Given the description of an element on the screen output the (x, y) to click on. 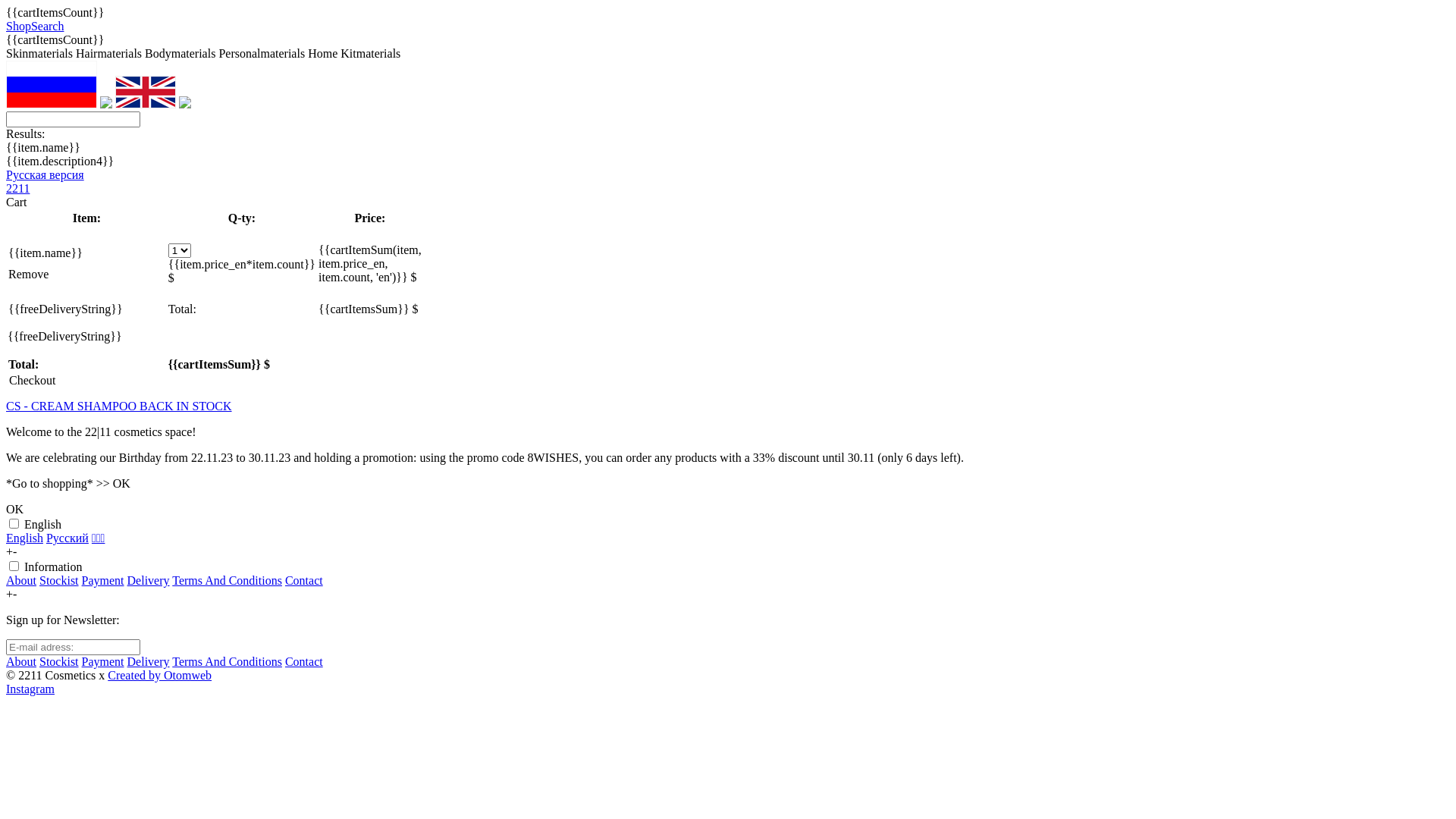
Shop Element type: text (18, 25)
Created by Otomweb Element type: text (159, 674)
Personalmaterials Element type: text (261, 53)
Terms And Conditions Element type: text (227, 580)
+- Element type: text (11, 551)
Stockist Element type: text (58, 661)
Hairmaterials Element type: text (108, 53)
Delivery Element type: text (148, 580)
Instagram Element type: text (30, 688)
About Element type: text (21, 661)
About Element type: text (21, 580)
Payment Element type: text (102, 661)
Search Element type: text (47, 25)
Home Element type: text (322, 53)
Skinmaterials Element type: text (39, 53)
Terms And Conditions Element type: text (227, 661)
English Element type: text (24, 537)
Payment Element type: text (102, 580)
Kitmaterials Element type: text (370, 53)
Checkout Element type: text (32, 379)
2211 Element type: text (17, 188)
Delivery Element type: text (148, 661)
OK Element type: text (14, 508)
Bodymaterials Element type: text (179, 53)
Stockist Element type: text (58, 580)
Contact Element type: text (304, 580)
+- Element type: text (11, 593)
Contact Element type: text (304, 661)
CS - CREAM SHAMPOO BACK IN STOCK Element type: text (727, 406)
